Given the description of an element on the screen output the (x, y) to click on. 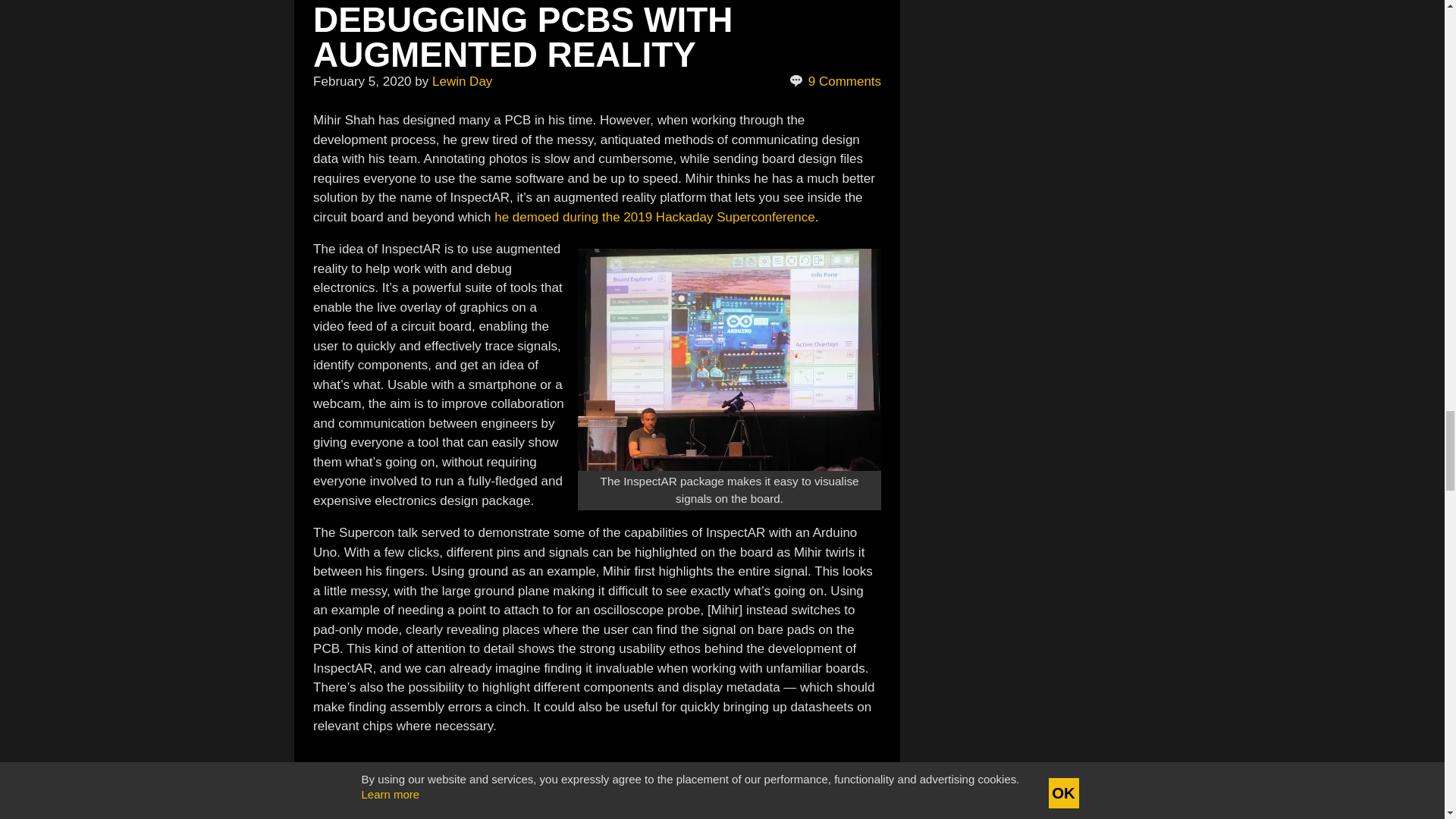
Posts by Lewin Day (462, 81)
Mihir Shah - Debugging PCBs with Augmented Reality (596, 784)
February 5, 2020 - 11:31 am (361, 81)
